Given the description of an element on the screen output the (x, y) to click on. 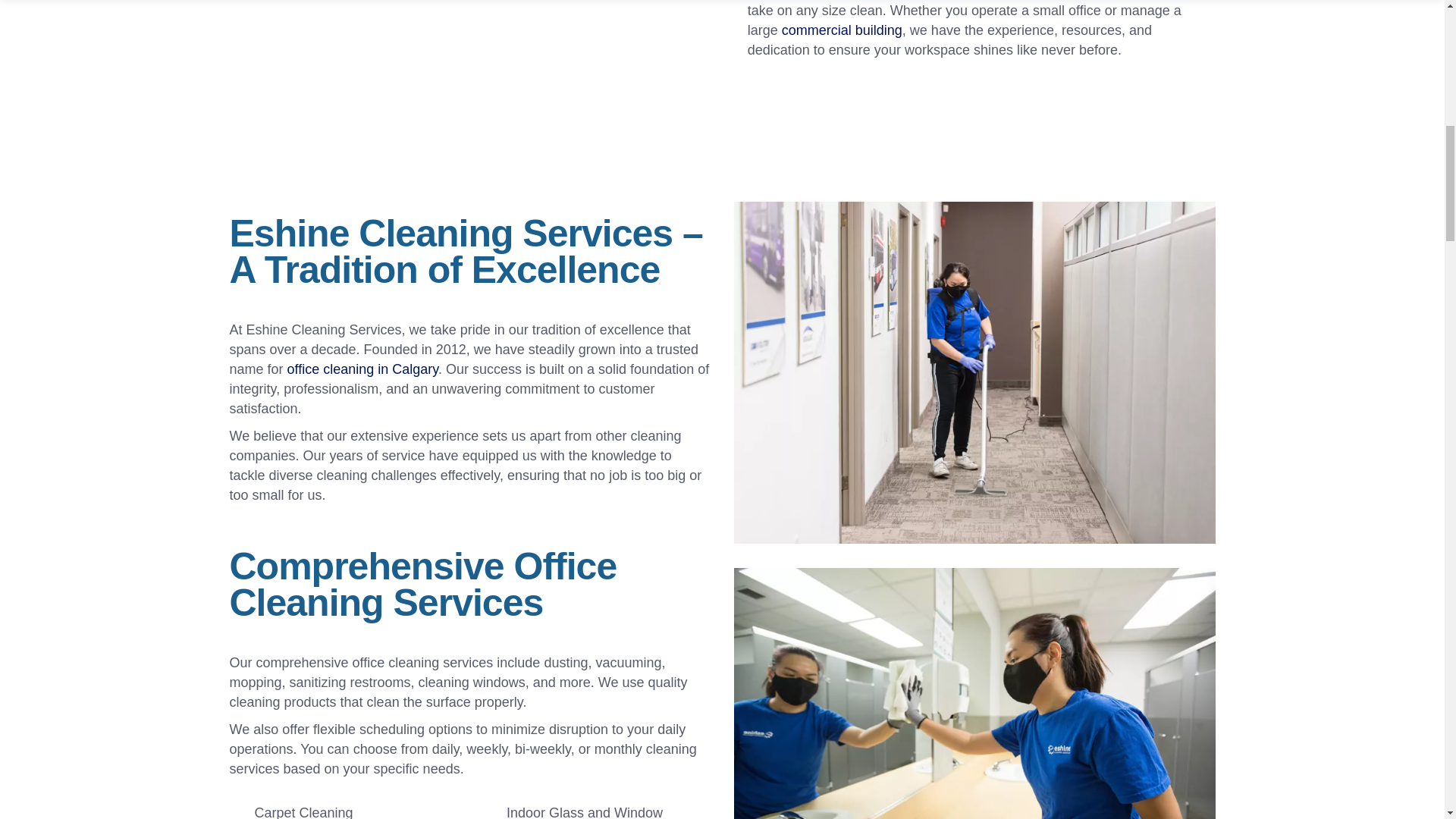
office cleaning in Calgary (362, 368)
commercial building (841, 29)
